Given the description of an element on the screen output the (x, y) to click on. 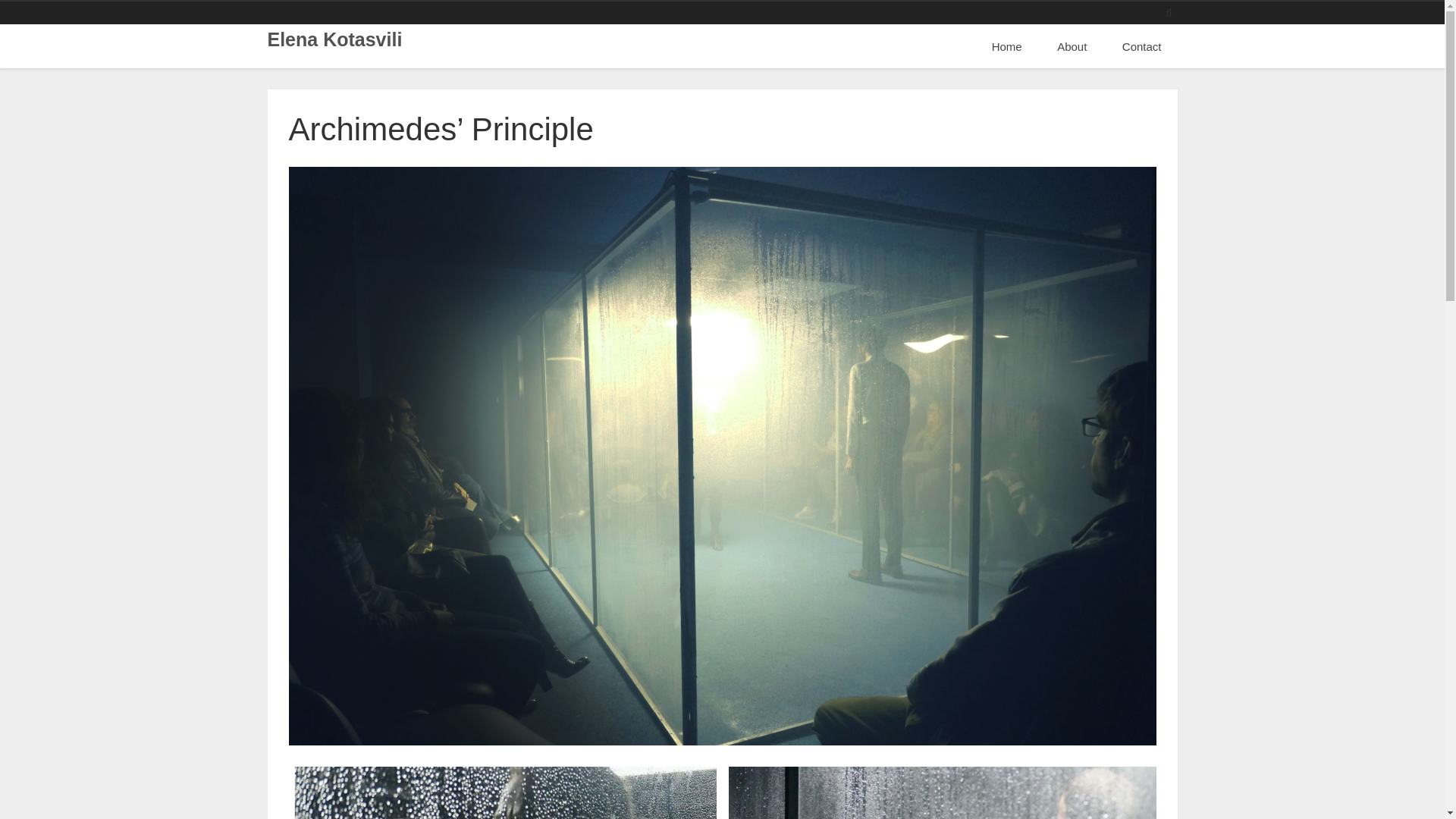
Elena Kotasvili (333, 39)
Home (1006, 46)
About (1071, 46)
Contact (1141, 46)
Elena Kotasvili (333, 39)
